Given the description of an element on the screen output the (x, y) to click on. 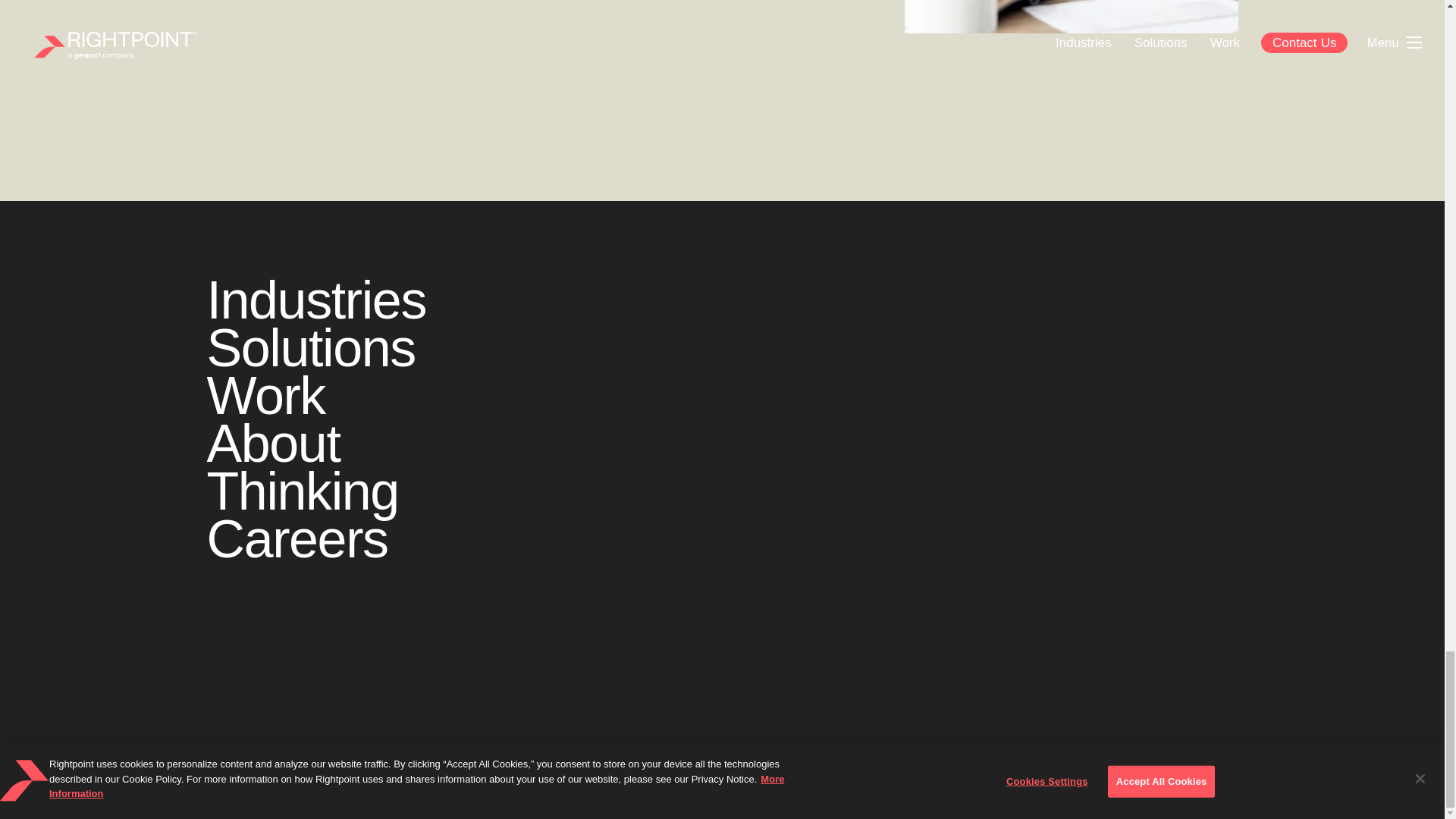
Thinking (301, 490)
About (272, 443)
Cookie Preference Center (870, 789)
Work (265, 395)
Terms of Use (978, 789)
Industries (315, 300)
Website Privacy Notice (738, 789)
Solutions (310, 347)
Careers (296, 538)
